Given the description of an element on the screen output the (x, y) to click on. 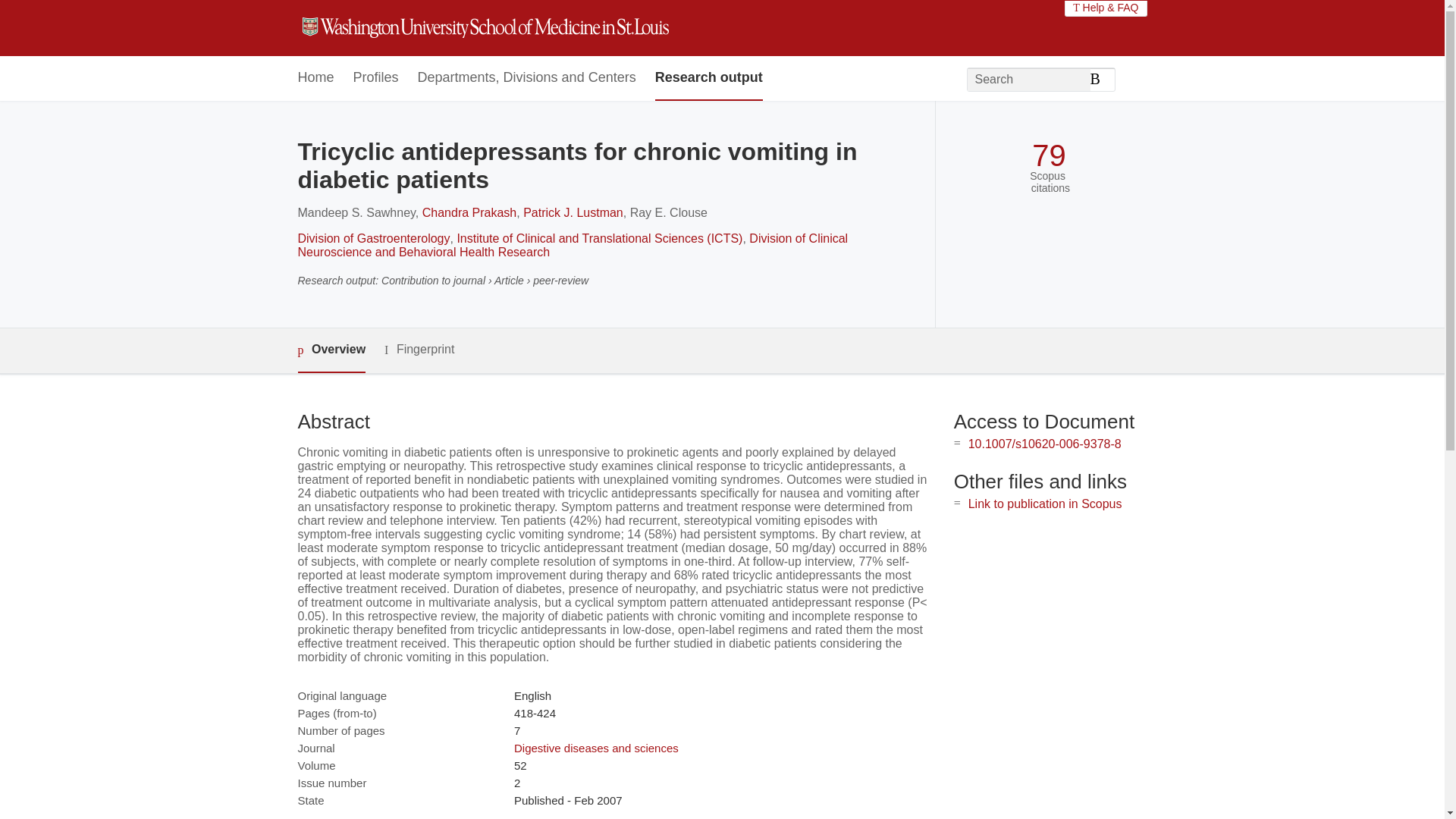
Digestive diseases and sciences (595, 748)
Division of Gastroenterology (373, 237)
79 (1048, 155)
Chandra Prakash (469, 212)
Patrick J. Lustman (572, 212)
Overview (331, 350)
Link to publication in Scopus (1045, 503)
Research output (708, 78)
Profiles (375, 78)
Departments, Divisions and Centers (526, 78)
Fingerprint (419, 349)
